Given the description of an element on the screen output the (x, y) to click on. 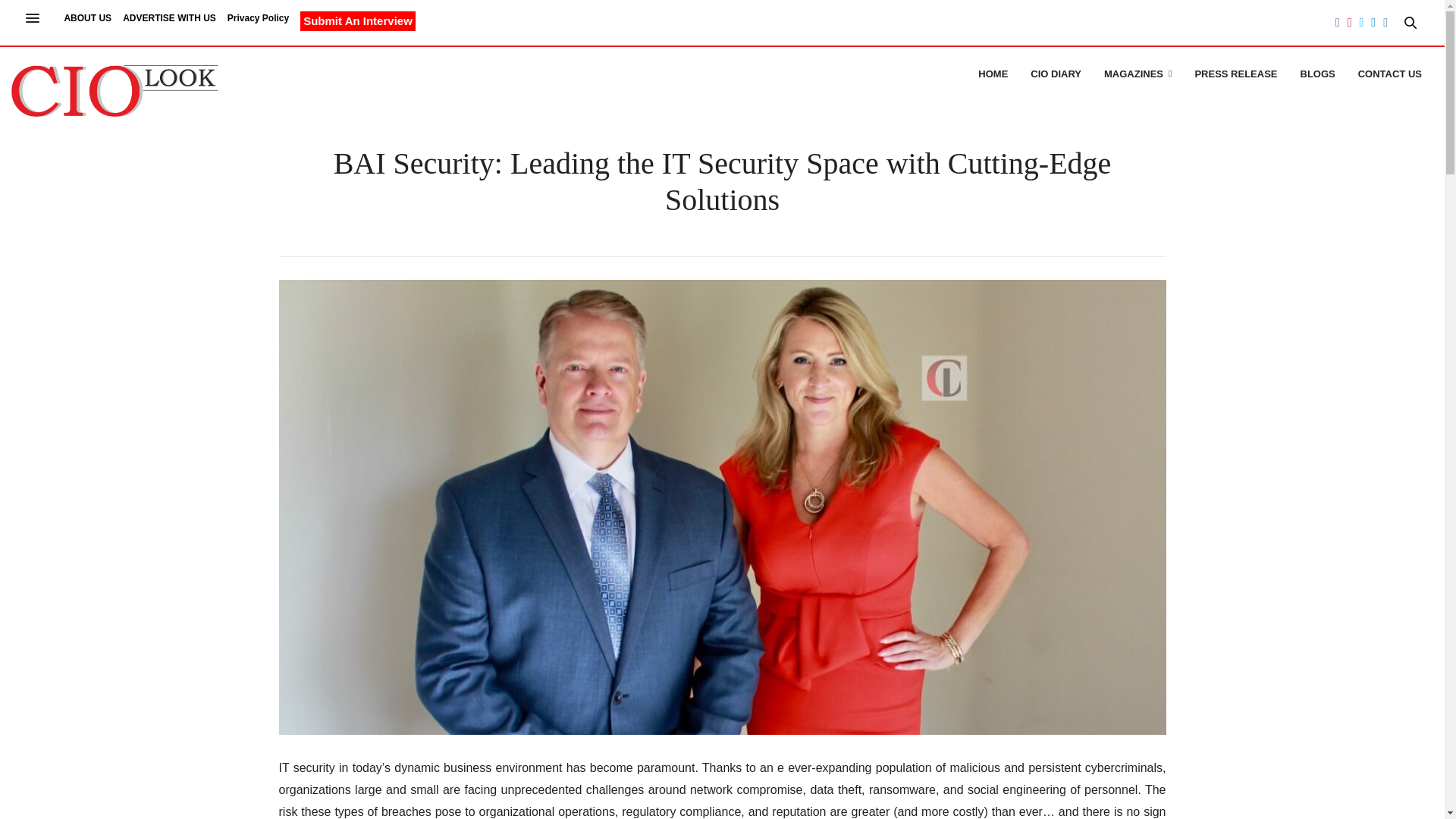
Privacy Policy (257, 21)
MAGAZINES (1137, 73)
Submit An Interview (356, 21)
CIO DIARY (1055, 73)
HOME (992, 73)
ABOUT US (88, 21)
ADVERTISE WITH US (168, 21)
